Given the description of an element on the screen output the (x, y) to click on. 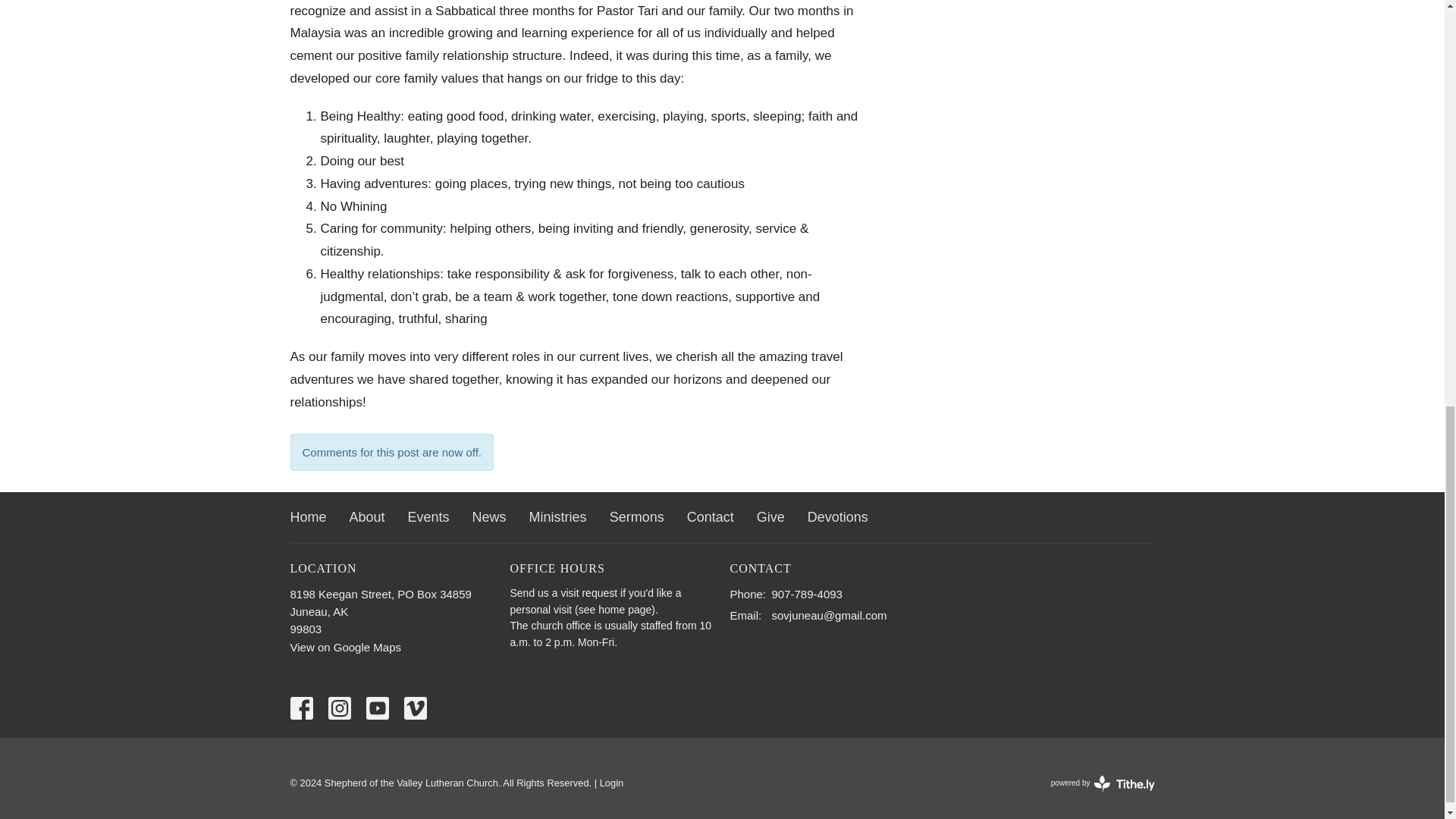
View on Google Maps (344, 646)
Give (770, 517)
Events (428, 517)
translation missing: en.ui.email (743, 615)
Sermons (636, 517)
907-789-4093 (807, 593)
Ministries (557, 517)
Login (611, 782)
Home (307, 517)
Contact (1102, 783)
About (710, 517)
News (367, 517)
Devotions (488, 517)
